Given the description of an element on the screen output the (x, y) to click on. 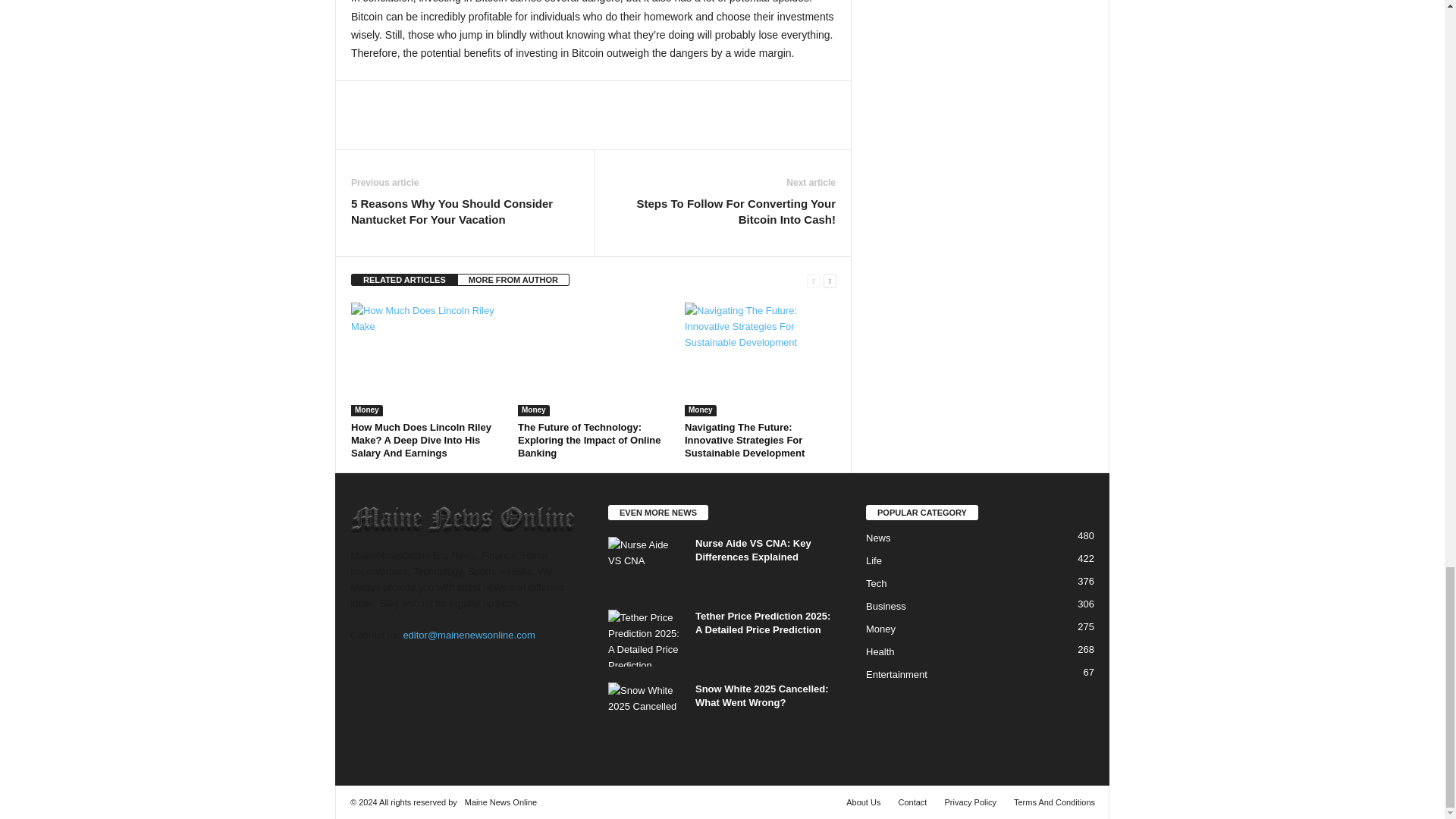
bottomFacebookLike (390, 96)
